Given the description of an element on the screen output the (x, y) to click on. 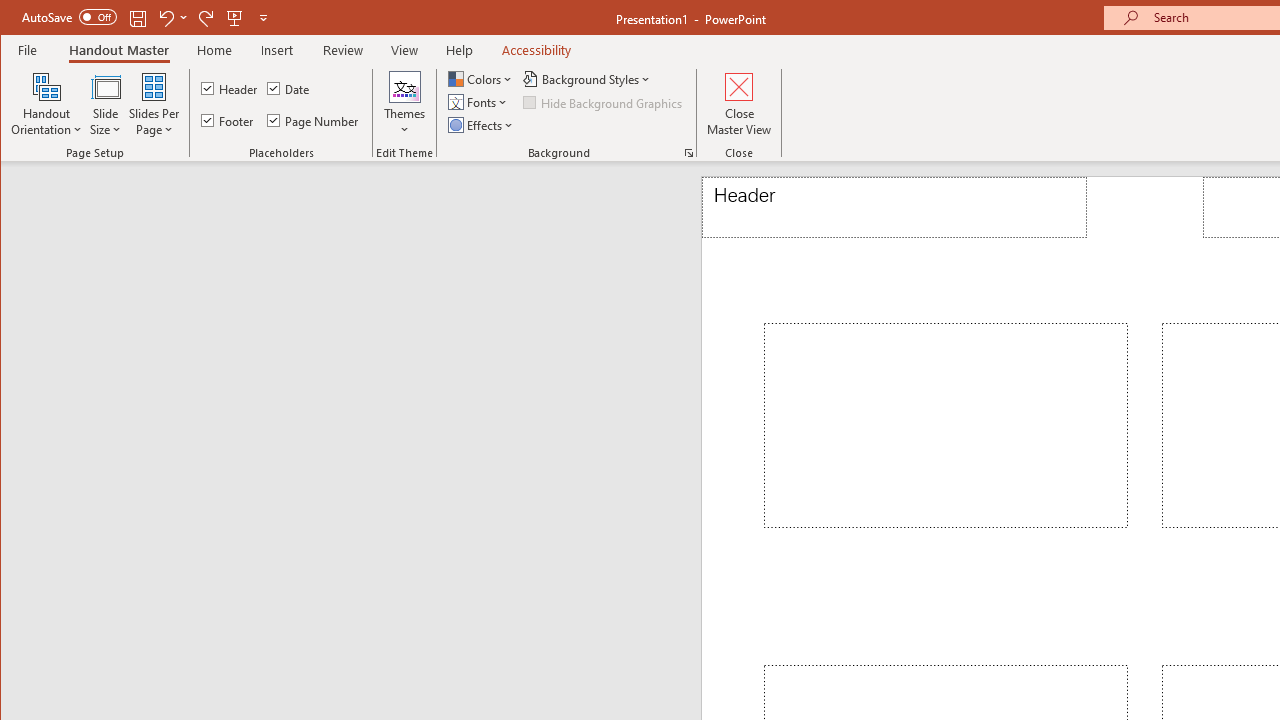
Handout Orientation (46, 104)
Slides Per Page (153, 104)
Handout Master (118, 50)
Date (289, 88)
Hide Background Graphics (603, 101)
Close Master View (739, 104)
